Given the description of an element on the screen output the (x, y) to click on. 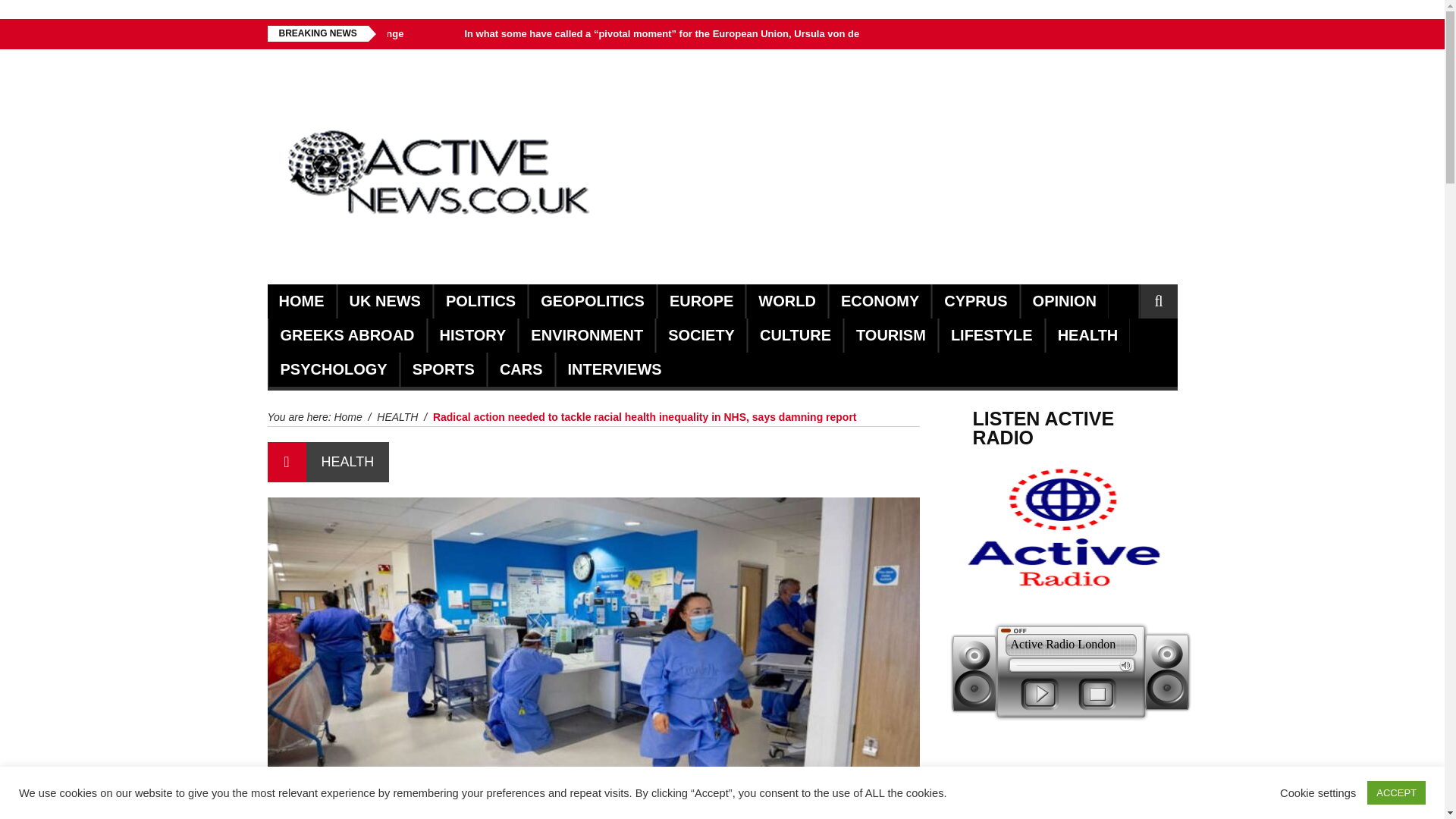
SOCIETY (701, 335)
SPORTS (443, 369)
ENVIRONMENT (587, 335)
GEOPOLITICS (592, 301)
HISTORY (472, 335)
CARS (521, 369)
LIFESTYLE (991, 335)
HEALTH (1088, 335)
UK NEWS (384, 301)
GREEKS ABROAD (347, 335)
TOURISM (891, 335)
CULTURE (795, 335)
CYPRUS (975, 301)
POLITICS (480, 301)
